Given the description of an element on the screen output the (x, y) to click on. 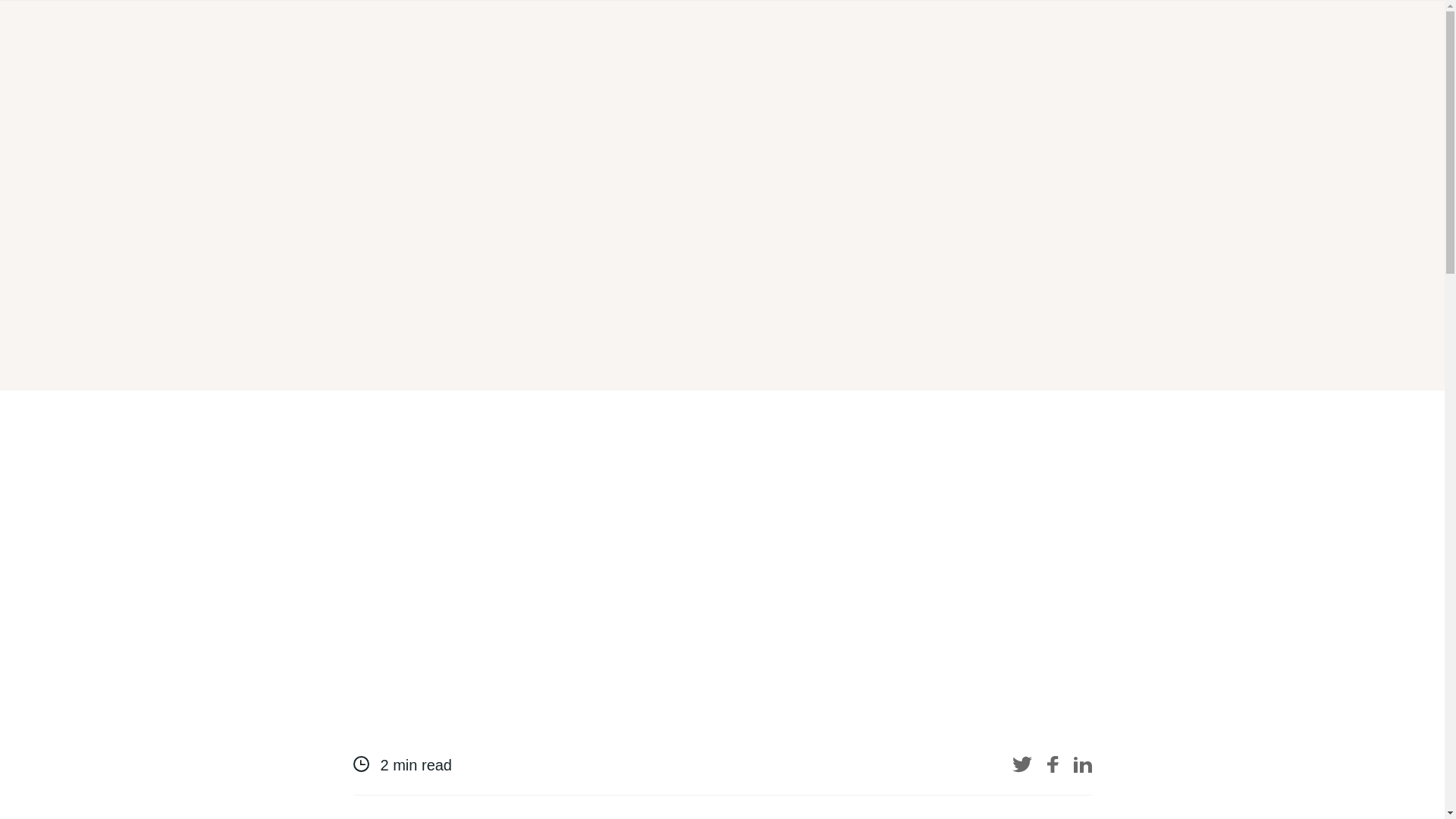
Share on LinkedIn (1083, 764)
Share on Twitter (1020, 764)
